Given the description of an element on the screen output the (x, y) to click on. 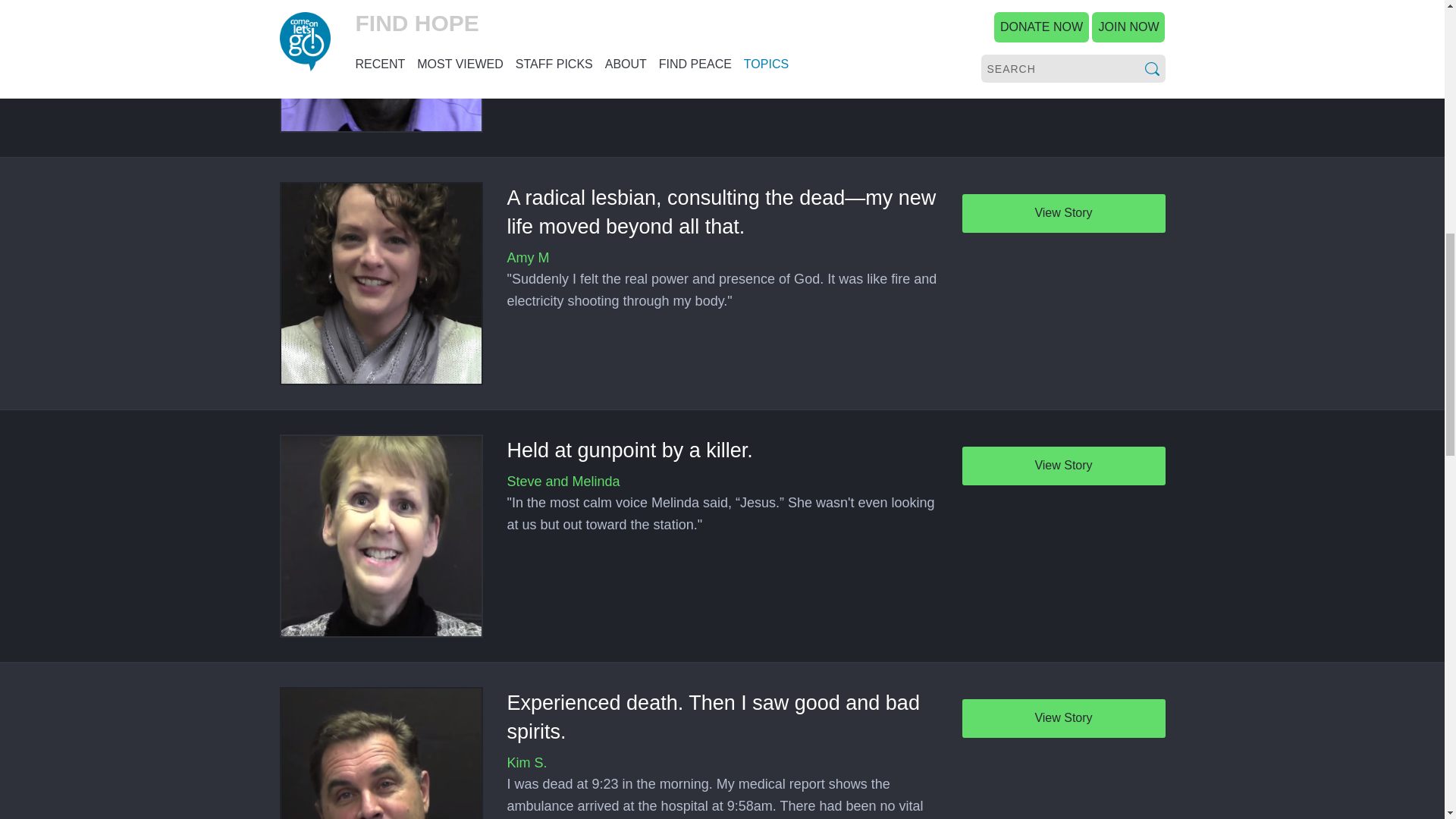
View Story (1062, 465)
Held at gunpoint by a killer. (629, 449)
Experienced death. Then I saw good and bad spirits. (712, 716)
View Story (1062, 213)
View Story (1062, 718)
